Given the description of an element on the screen output the (x, y) to click on. 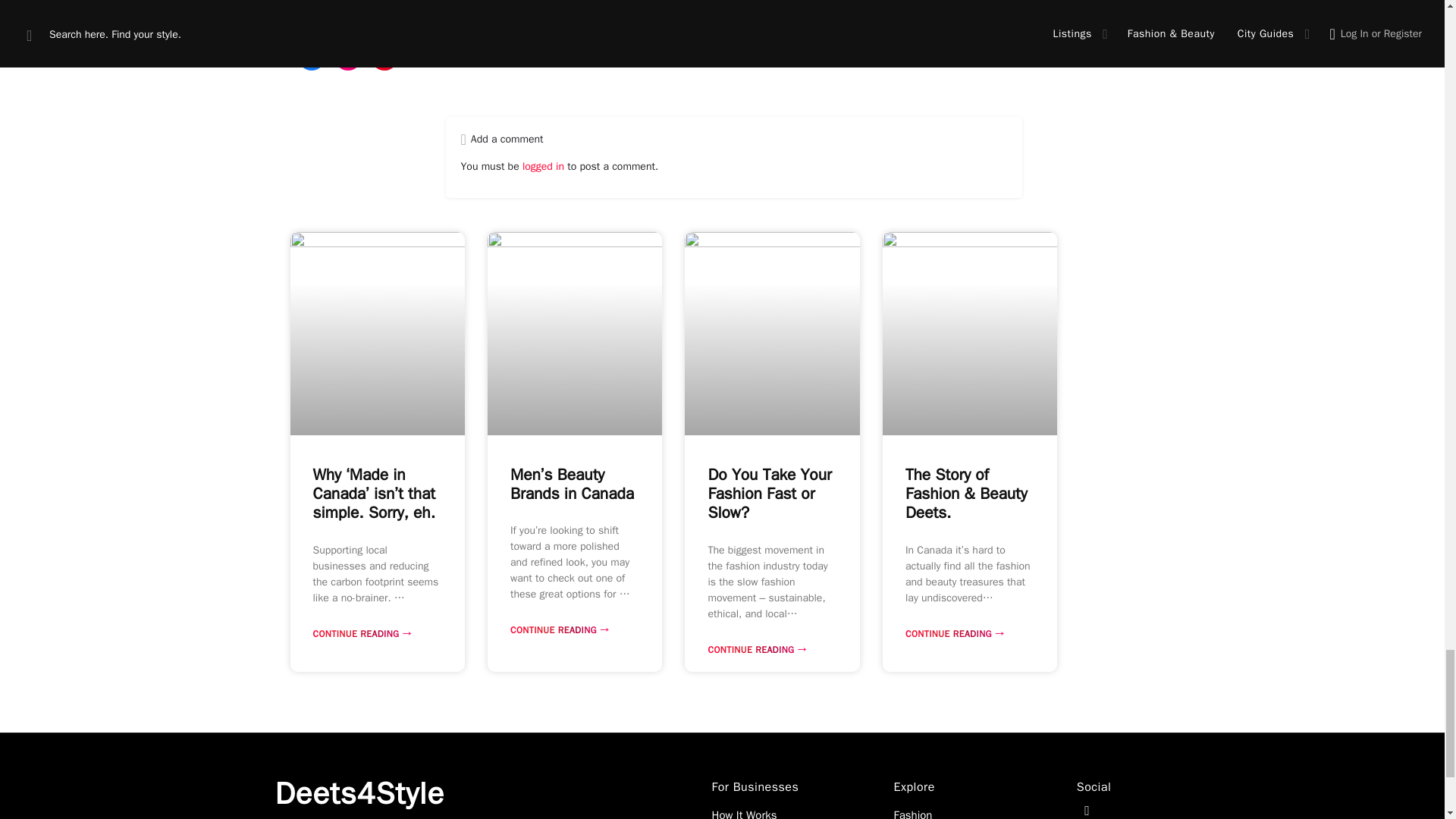
logged in (543, 165)
